Given the description of an element on the screen output the (x, y) to click on. 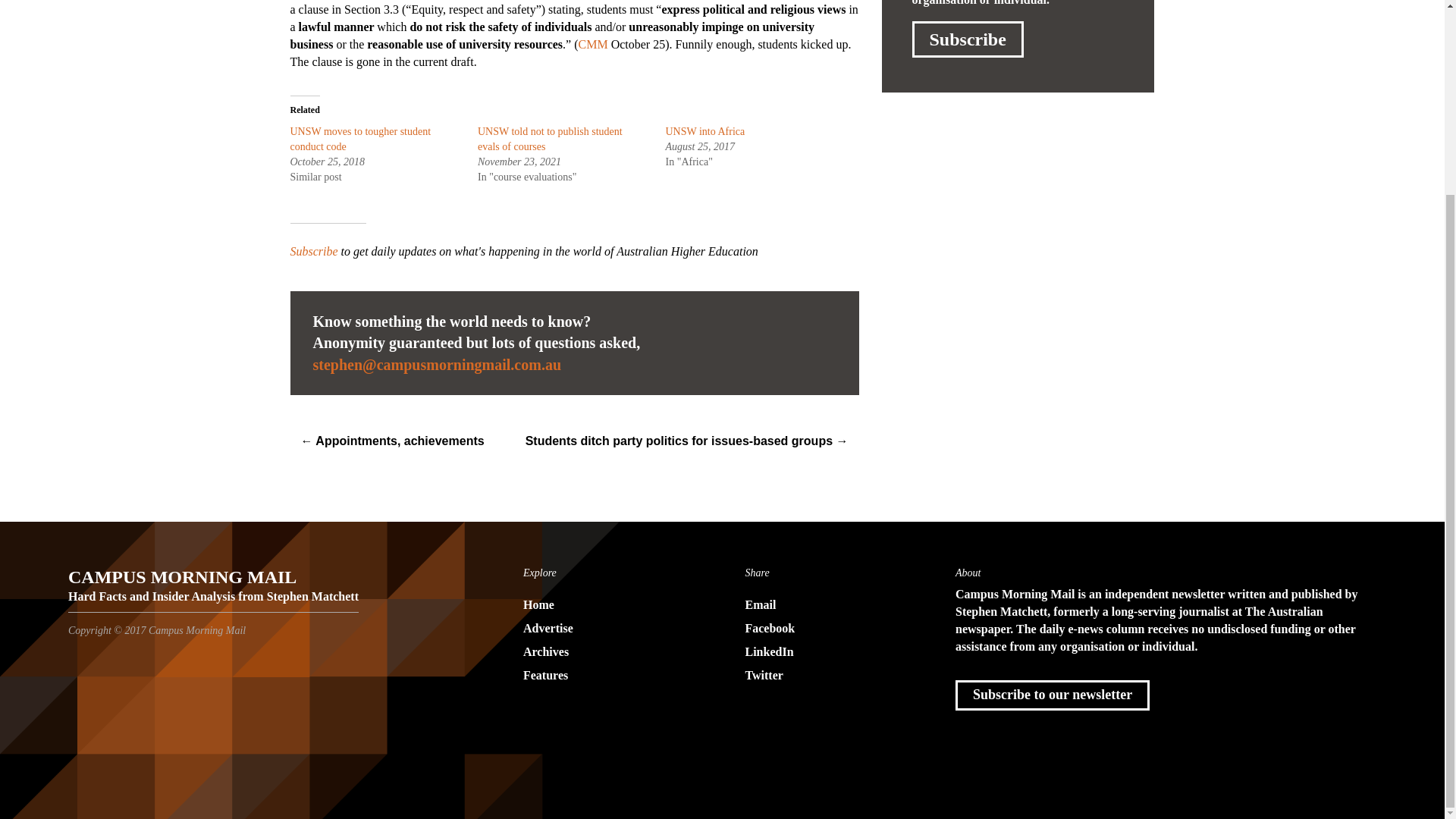
Features (611, 675)
UNSW told not to publish student evals of courses (550, 139)
Advertise (611, 628)
CMM (592, 43)
Subscribe (967, 39)
Twitter (833, 675)
LinkedIn (833, 652)
Archives (611, 652)
UNSW moves to tougher student conduct code (359, 139)
Email (833, 605)
Facebook (833, 628)
Features (611, 675)
UNSW moves to tougher student conduct code (359, 139)
